Given the description of an element on the screen output the (x, y) to click on. 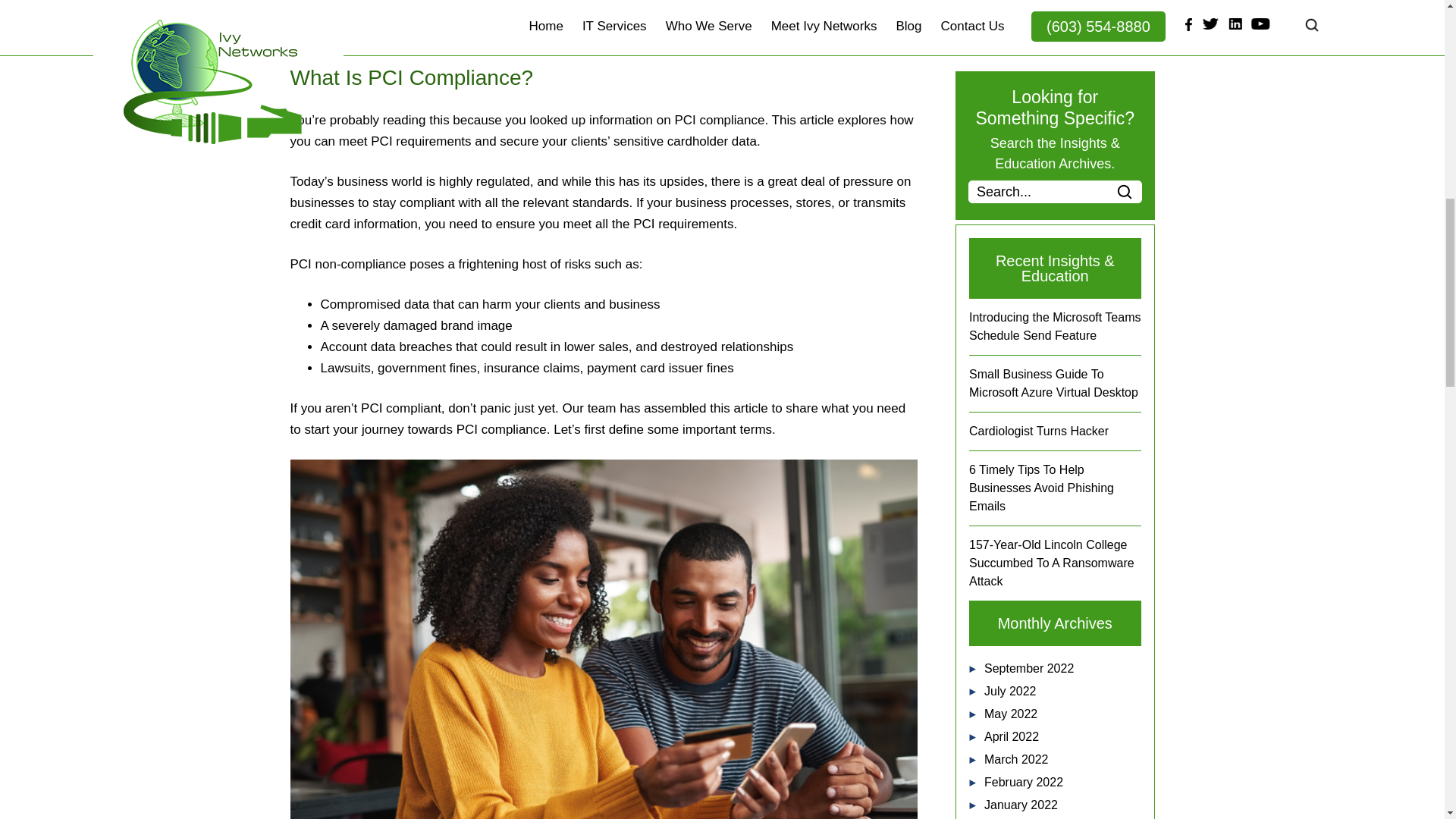
Introducing the Microsoft Teams Schedule Send Feature (1054, 326)
September 2022 (1029, 667)
January 2022 (1021, 804)
April 2022 (1011, 736)
Small Business Guide To Microsoft Azure Virtual Desktop (1053, 382)
6 Timely Tips To Help Businesses Avoid Phishing Emails (1041, 487)
July 2022 (1010, 690)
February 2022 (1023, 781)
May 2022 (1010, 713)
Search... (1054, 191)
Cardiologist Turns Hacker (1038, 431)
March 2022 (1016, 758)
Search... (1054, 191)
